Given the description of an element on the screen output the (x, y) to click on. 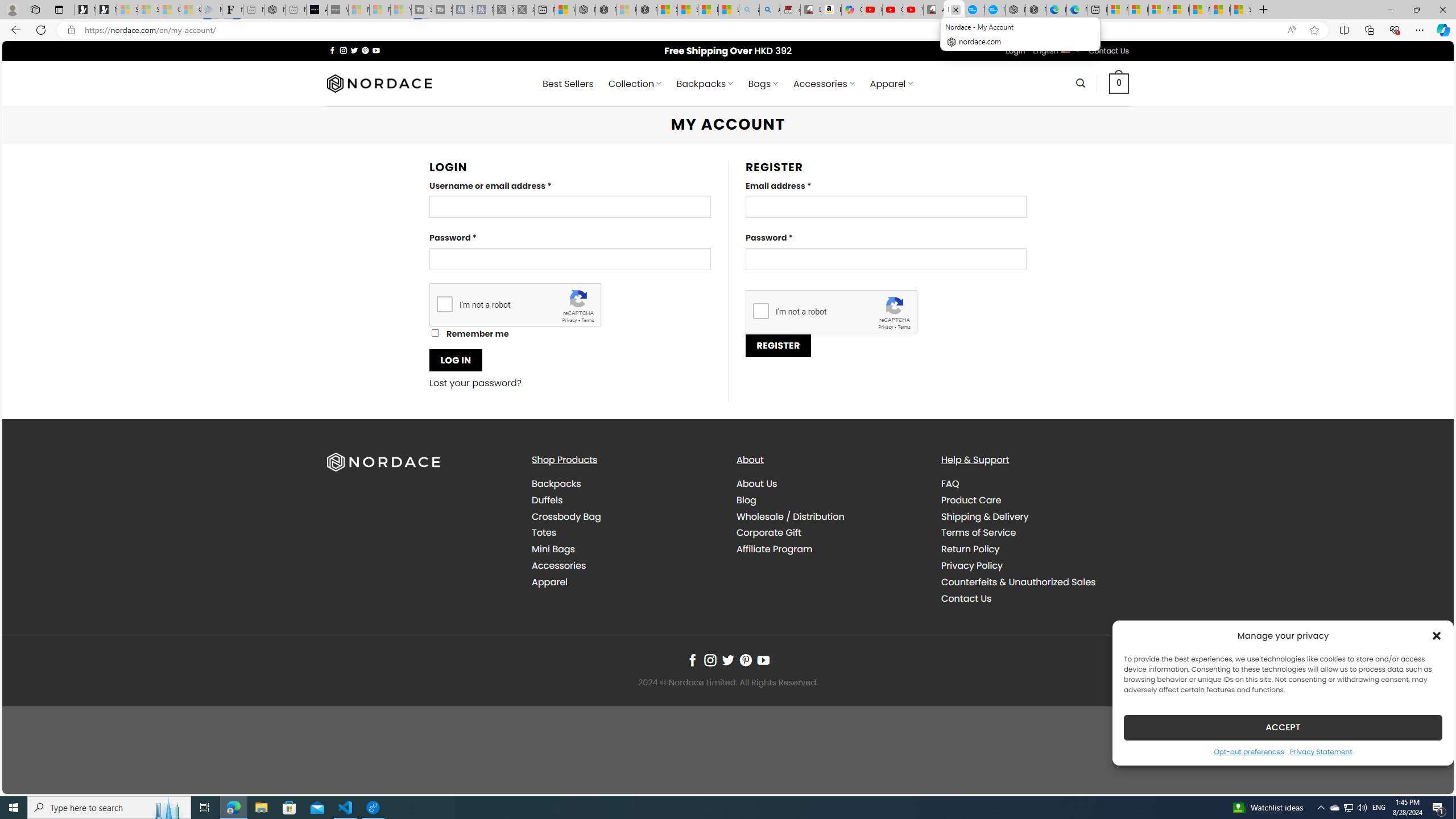
Go to top (1430, 777)
X - Sleeping (523, 9)
Nordace - Nordace has arrived Hong Kong (1035, 9)
AI Voice Changer for PC and Mac - Voice.ai (316, 9)
amazon - Search - Sleeping (748, 9)
Wholesale / Distribution (790, 516)
Shipping & Delivery (984, 516)
